Given the description of an element on the screen output the (x, y) to click on. 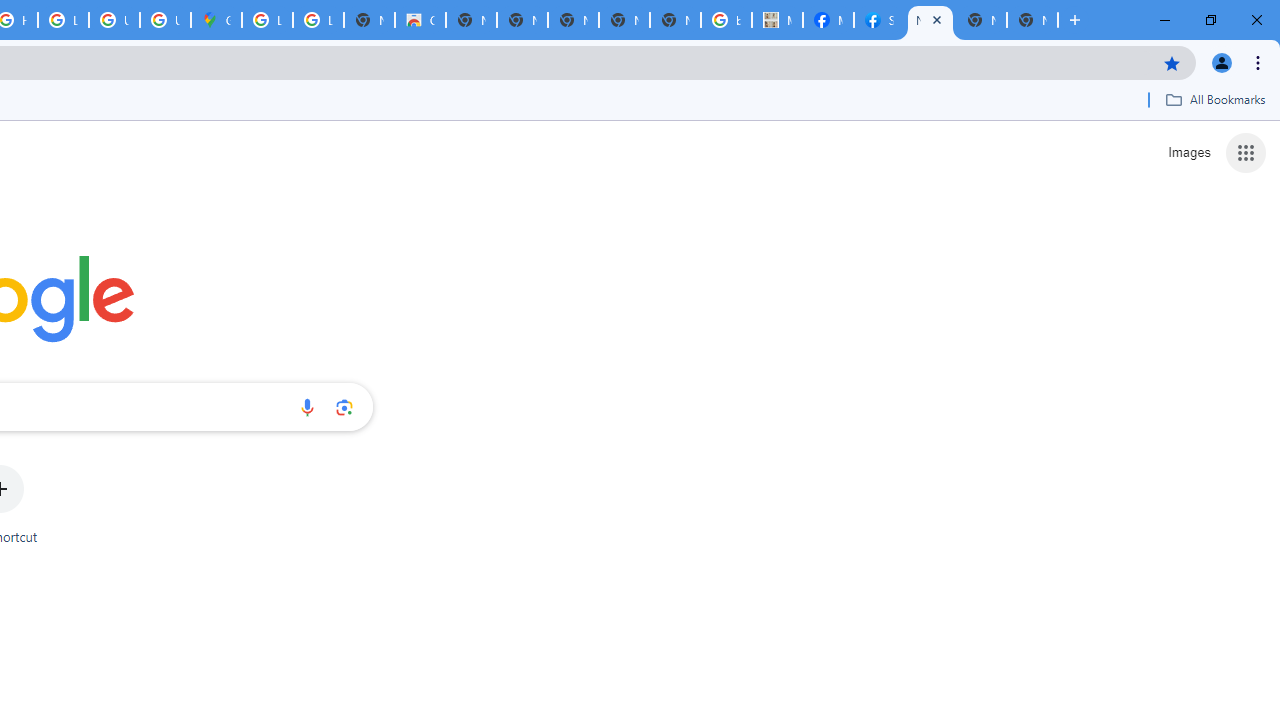
New Tab (1032, 20)
Google Maps (215, 20)
